Given the description of an element on the screen output the (x, y) to click on. 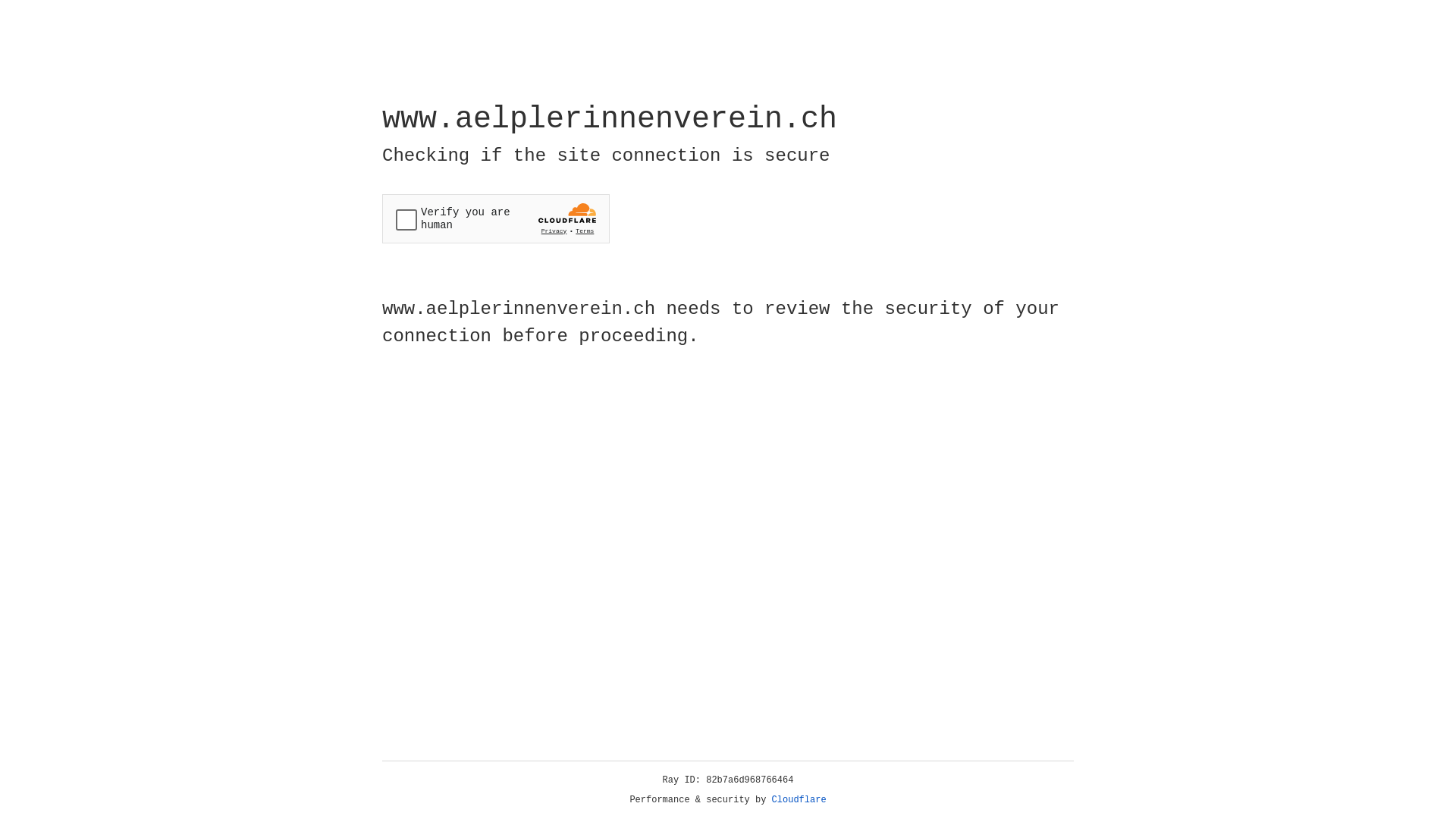
Cloudflare Element type: text (798, 799)
Widget containing a Cloudflare security challenge Element type: hover (495, 218)
